Given the description of an element on the screen output the (x, y) to click on. 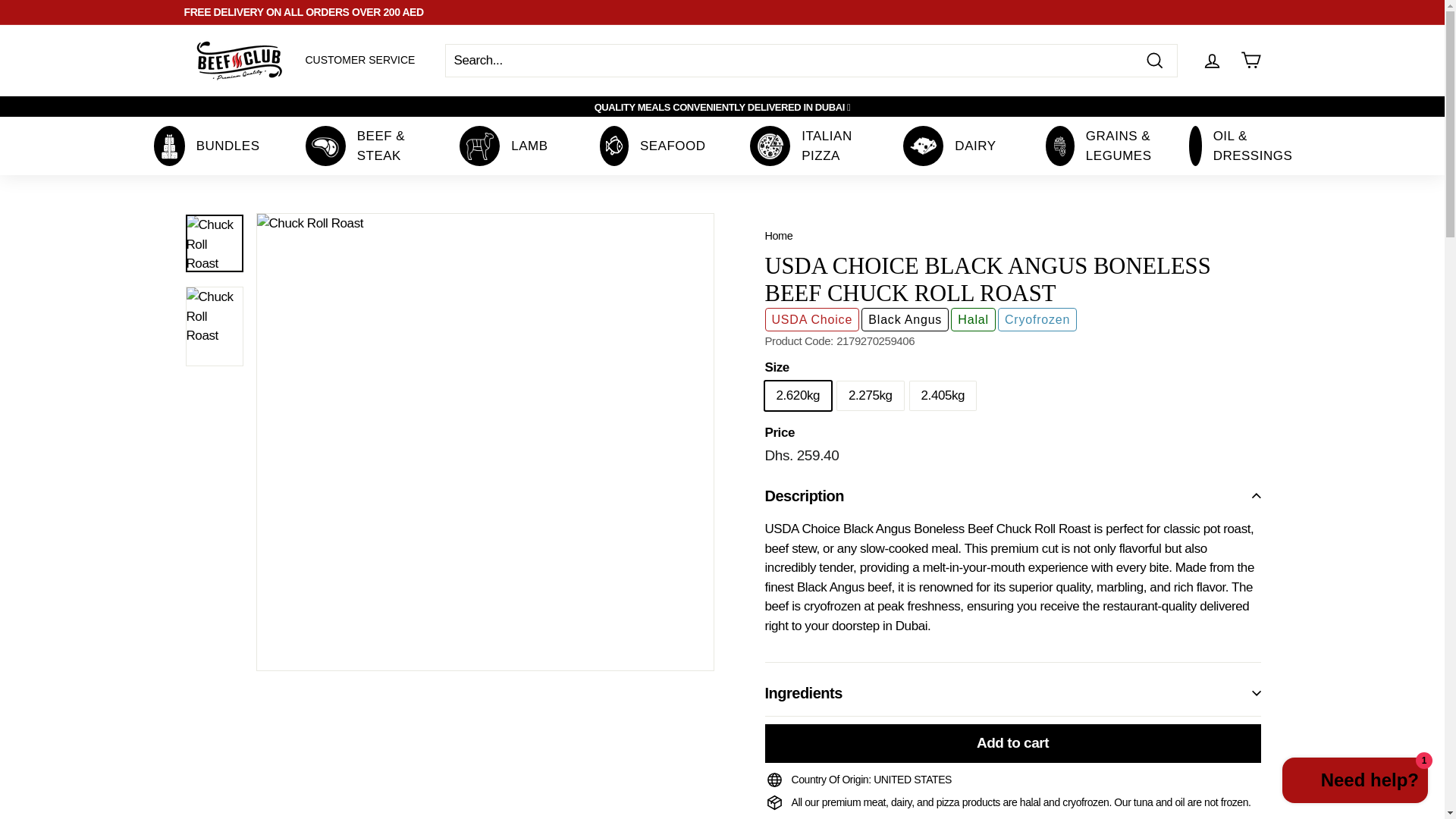
DAIRY (949, 146)
Description (1012, 496)
Back to the frontpage (778, 235)
Home (778, 235)
Ingredients (1012, 693)
LAMB (800, 146)
2.275kg (502, 146)
2.620kg (359, 59)
